Given the description of an element on the screen output the (x, y) to click on. 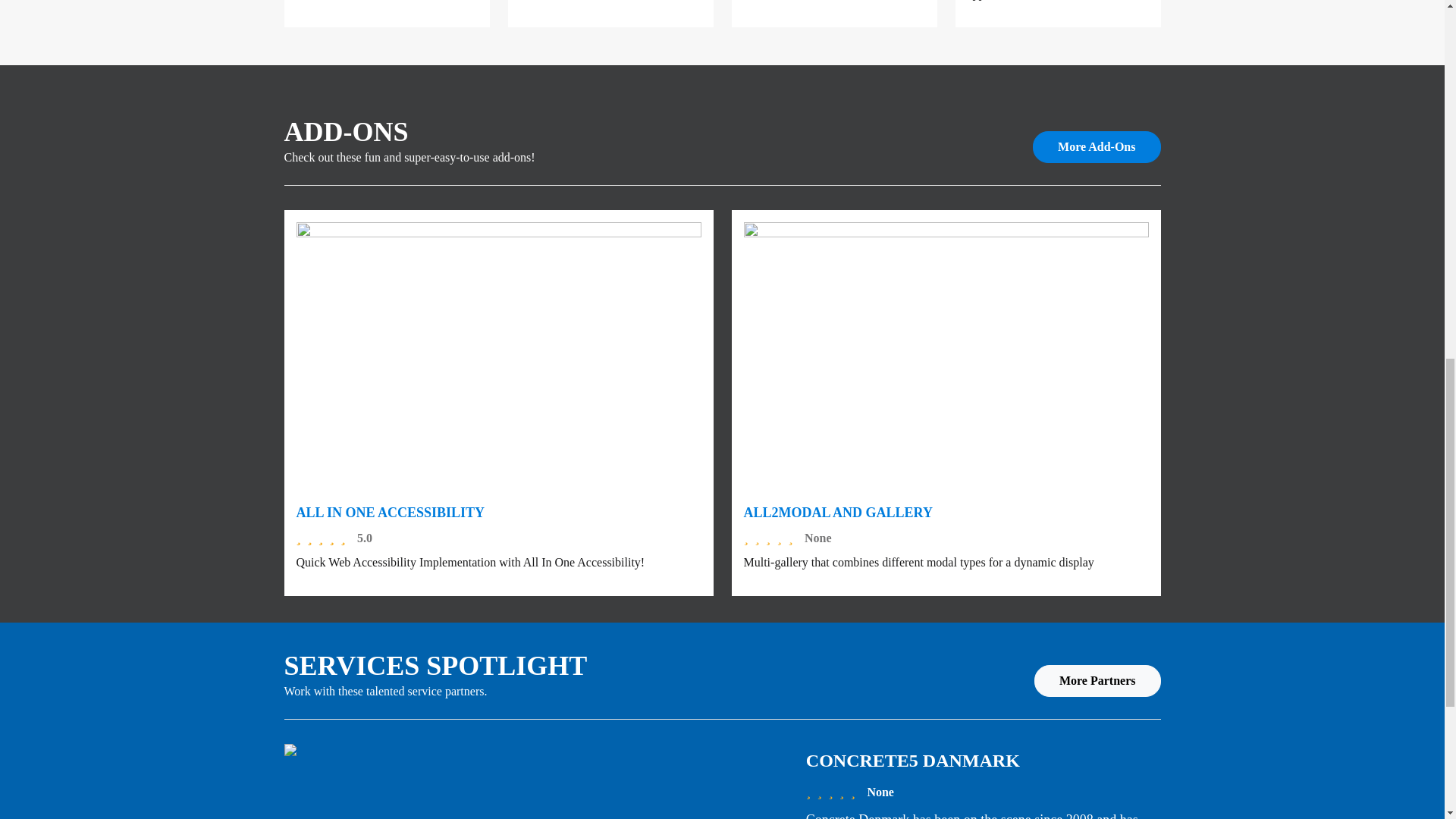
More Partners (1096, 680)
ALL IN ONE ACCESSIBILITY (389, 512)
More Add-Ons (1096, 146)
CONCRETE5 DANMARK (913, 760)
ALL2MODAL AND GALLERY (836, 512)
